Given the description of an element on the screen output the (x, y) to click on. 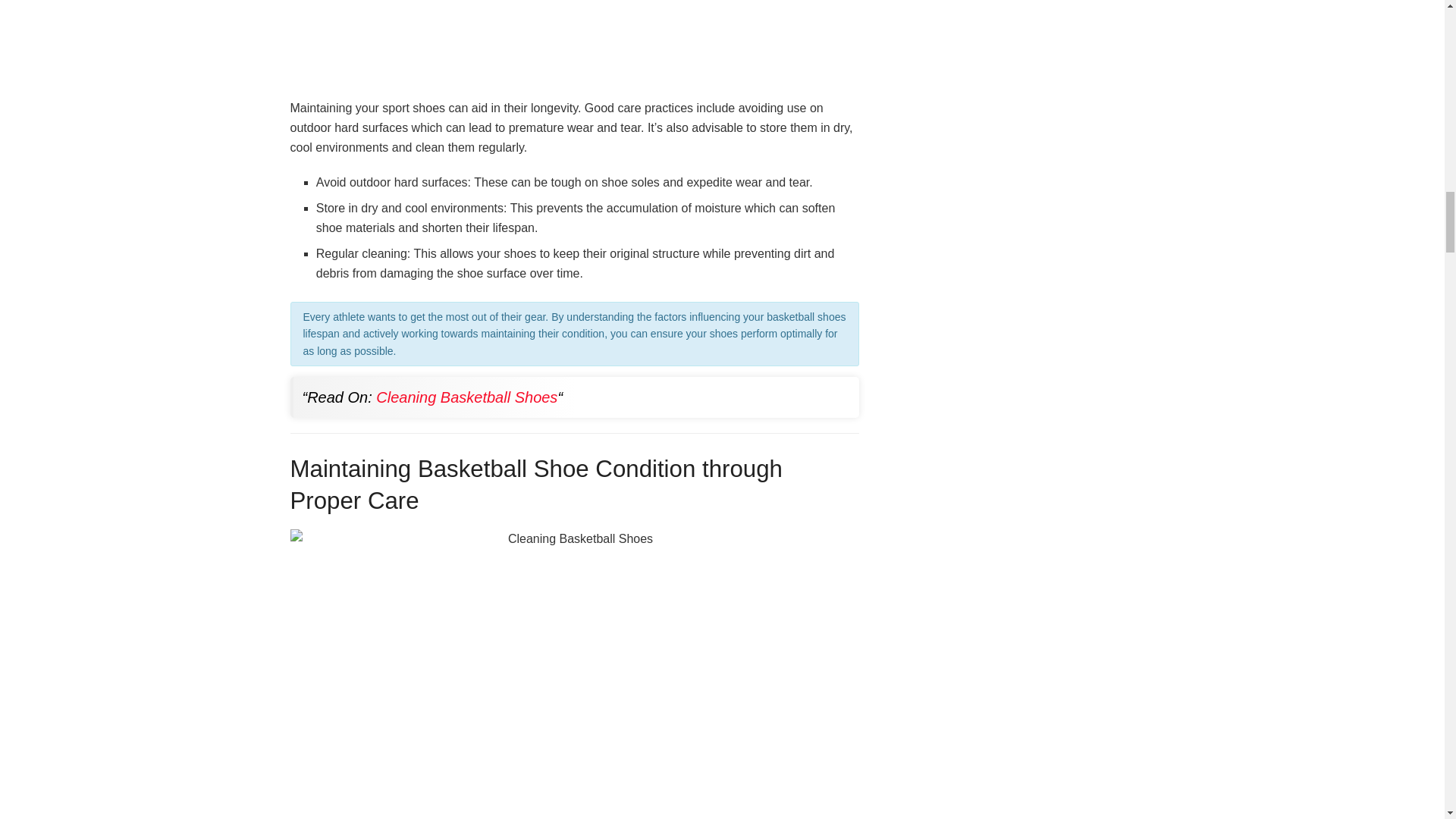
Extending of Replace Your Basketball Shoes Lifespan 3 (574, 41)
